Given the description of an element on the screen output the (x, y) to click on. 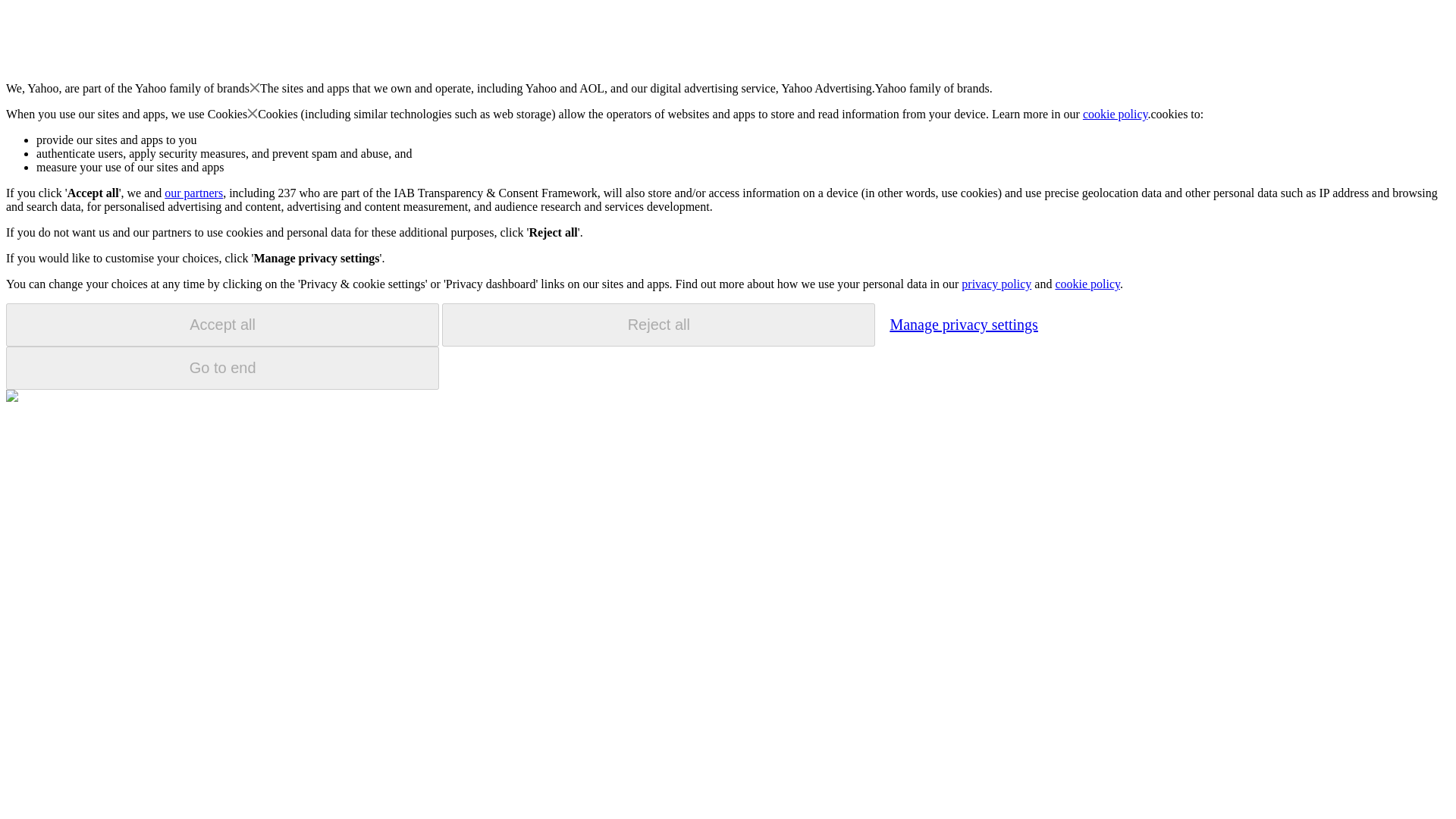
Manage privacy settings (963, 323)
cookie policy (1086, 283)
Go to end (222, 367)
cookie policy (1115, 113)
Reject all (658, 324)
our partners (193, 192)
Accept all (222, 324)
privacy policy (995, 283)
